Given the description of an element on the screen output the (x, y) to click on. 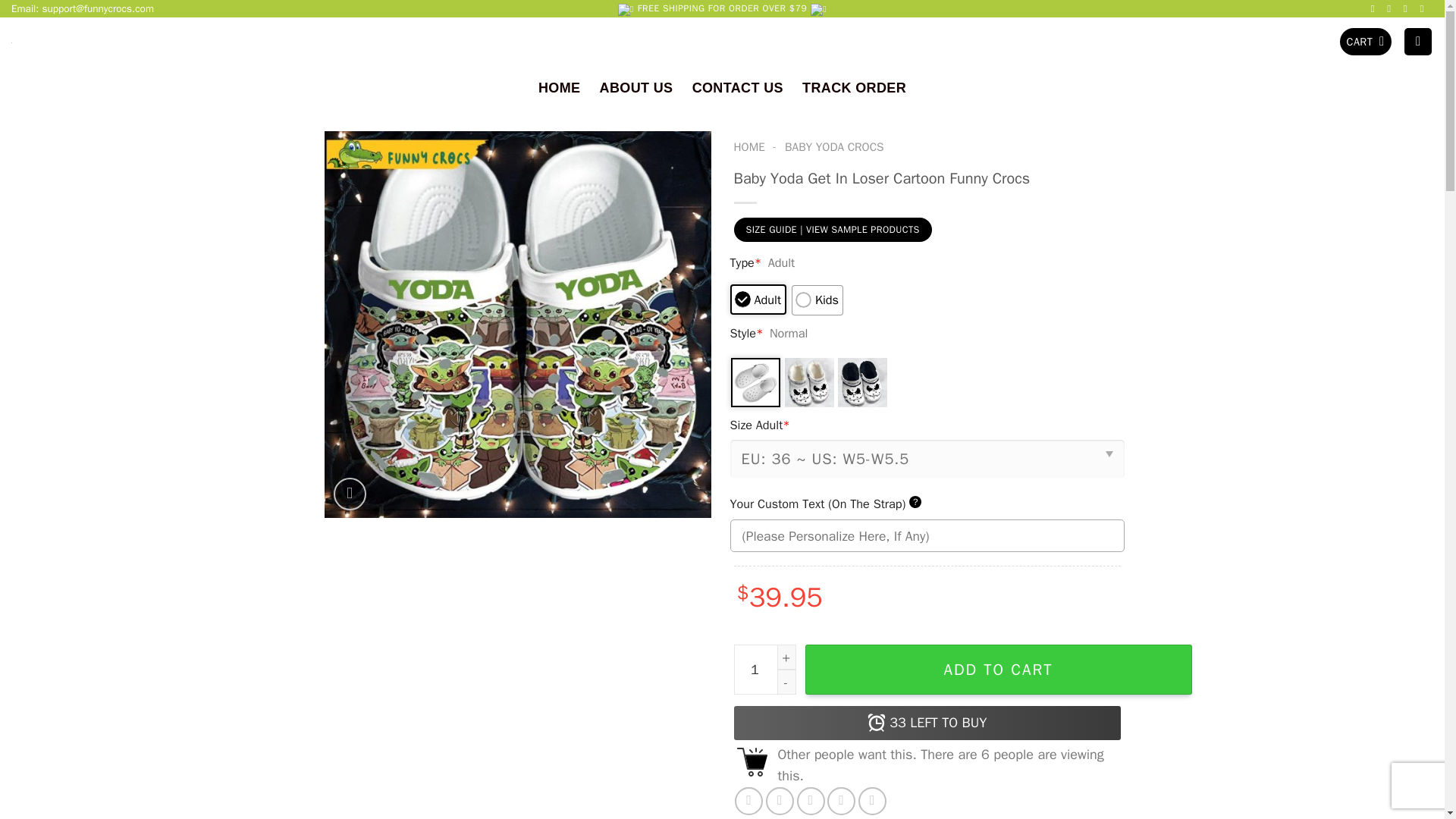
Follow on LinkedIn (1424, 8)
Follow on Pinterest (1408, 8)
CONTACT US (738, 87)
CART (1365, 41)
TRACK ORDER (853, 87)
BABY YODA CROCS (833, 146)
Cart (1365, 41)
Zoom (349, 494)
HOME (558, 87)
Send us an email (1392, 8)
HOME (749, 146)
1 (764, 669)
ADD TO CART (998, 669)
